Given the description of an element on the screen output the (x, y) to click on. 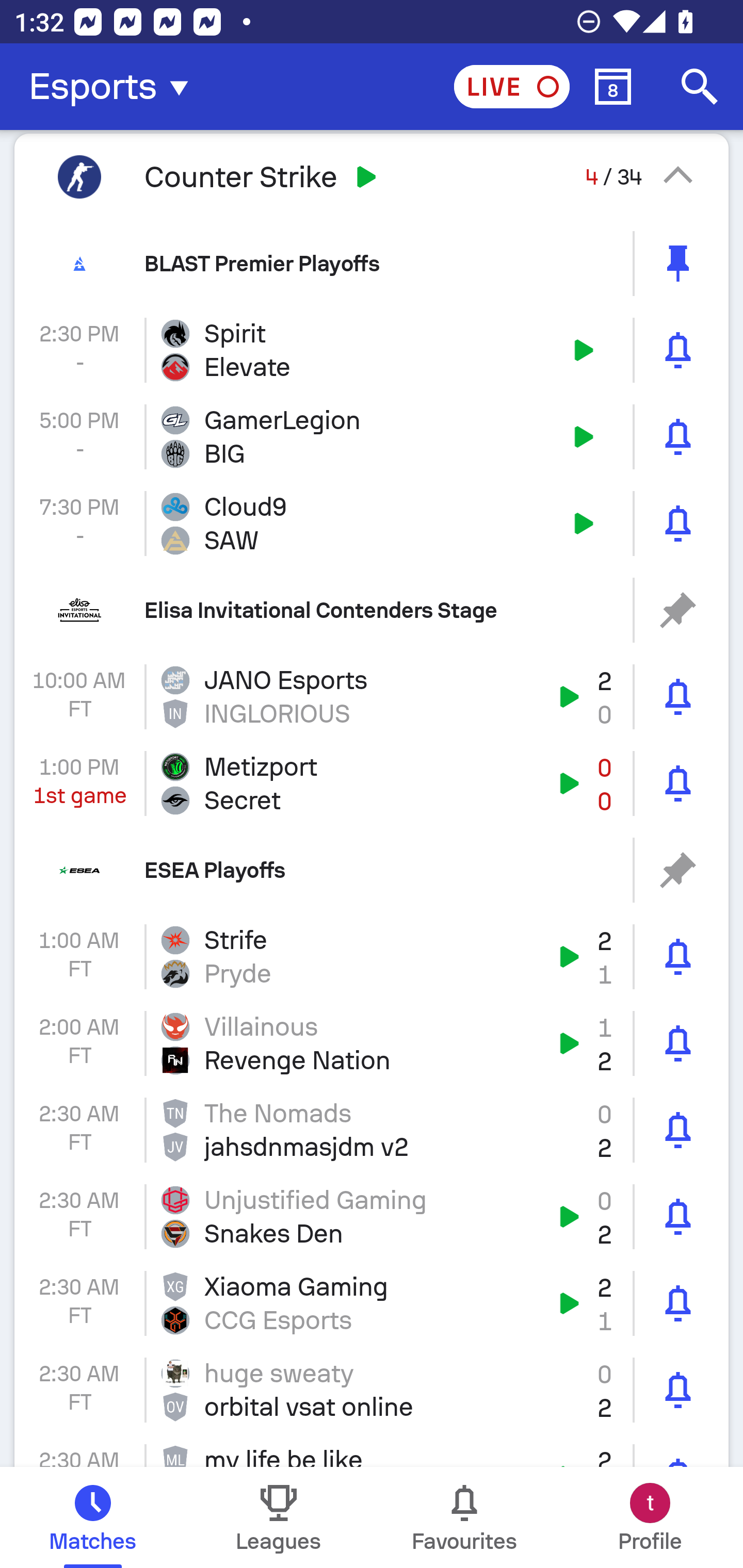
Esports (114, 86)
Calendar (612, 86)
Search (699, 86)
Counter Strike 4 / 34 (371, 176)
BLAST Premier Playoffs (371, 263)
2:30 PM - Spirit Elevate (371, 350)
5:00 PM - GamerLegion BIG (371, 436)
7:30 PM - Cloud9 SAW (371, 523)
Elisa Invitational Contenders Stage (371, 610)
10:00 AM FT JANO Esports INGLORIOUS 2 0 (371, 696)
1:00 PM 1st game Metizport Secret 0 0 (371, 783)
ESEA Playoffs (371, 870)
1:00 AM FT Strife Pryde 2 1 (371, 957)
2:00 AM FT Villainous Revenge Nation 1 2 (371, 1043)
2:30 AM FT The Nomads jahsdnmasjdm v2 0 2 (371, 1129)
2:30 AM FT Unjustified Gaming Snakes Den 0 2 (371, 1216)
2:30 AM FT Xiaoma Gaming CCG Esports 2 1 (371, 1303)
2:30 AM FT huge sweaty orbital vsat online 0 2 (371, 1389)
Leagues (278, 1517)
Favourites (464, 1517)
Profile (650, 1517)
